Given the description of an element on the screen output the (x, y) to click on. 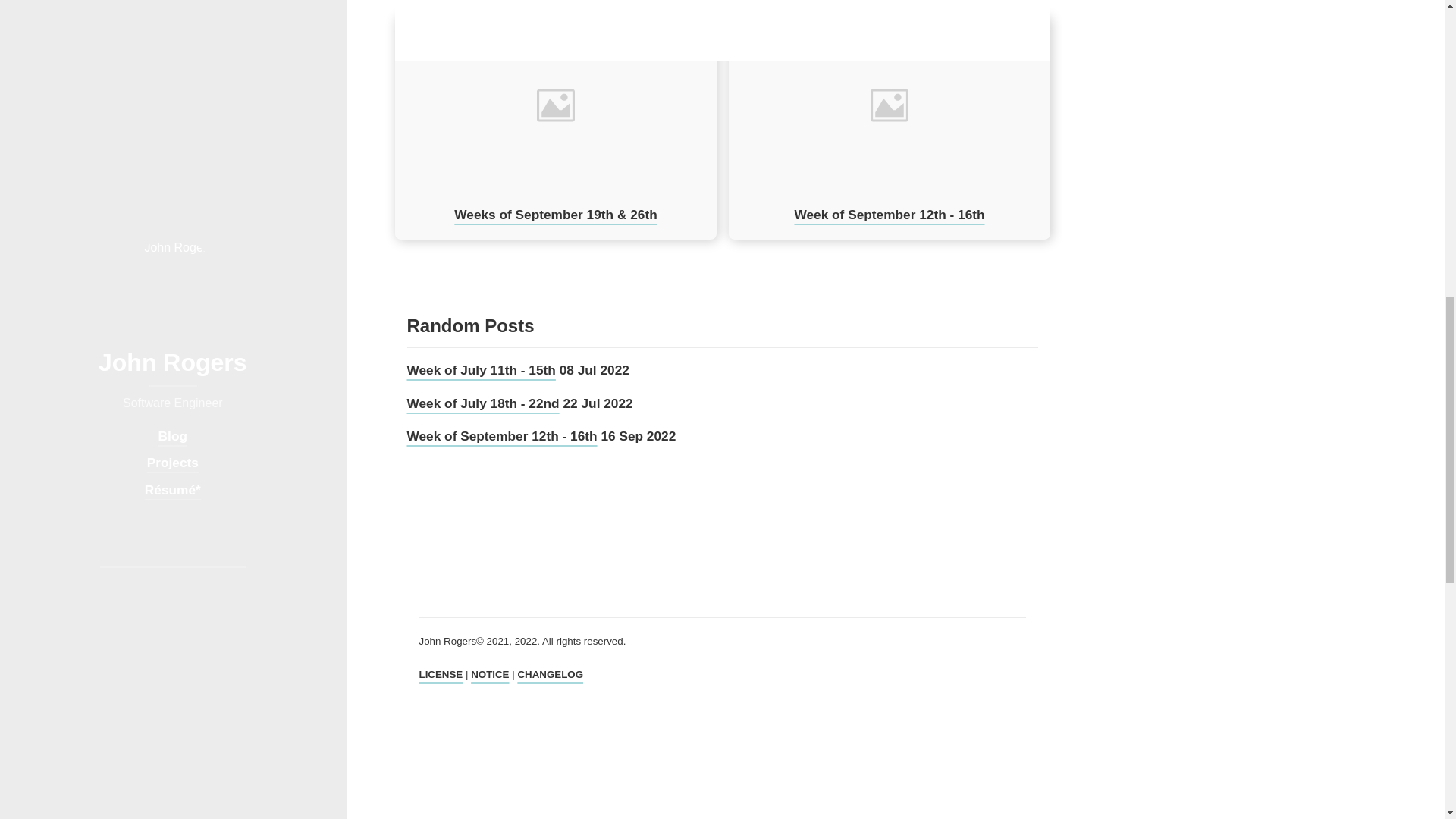
Week of September 12th - 16th (888, 214)
Week of July 18th - 22nd (482, 403)
NOTICE (489, 674)
Week of July 11th - 15th (480, 369)
CHANGELOG (549, 674)
Week of September 12th - 16th (501, 435)
LICENSE (441, 674)
